Given the description of an element on the screen output the (x, y) to click on. 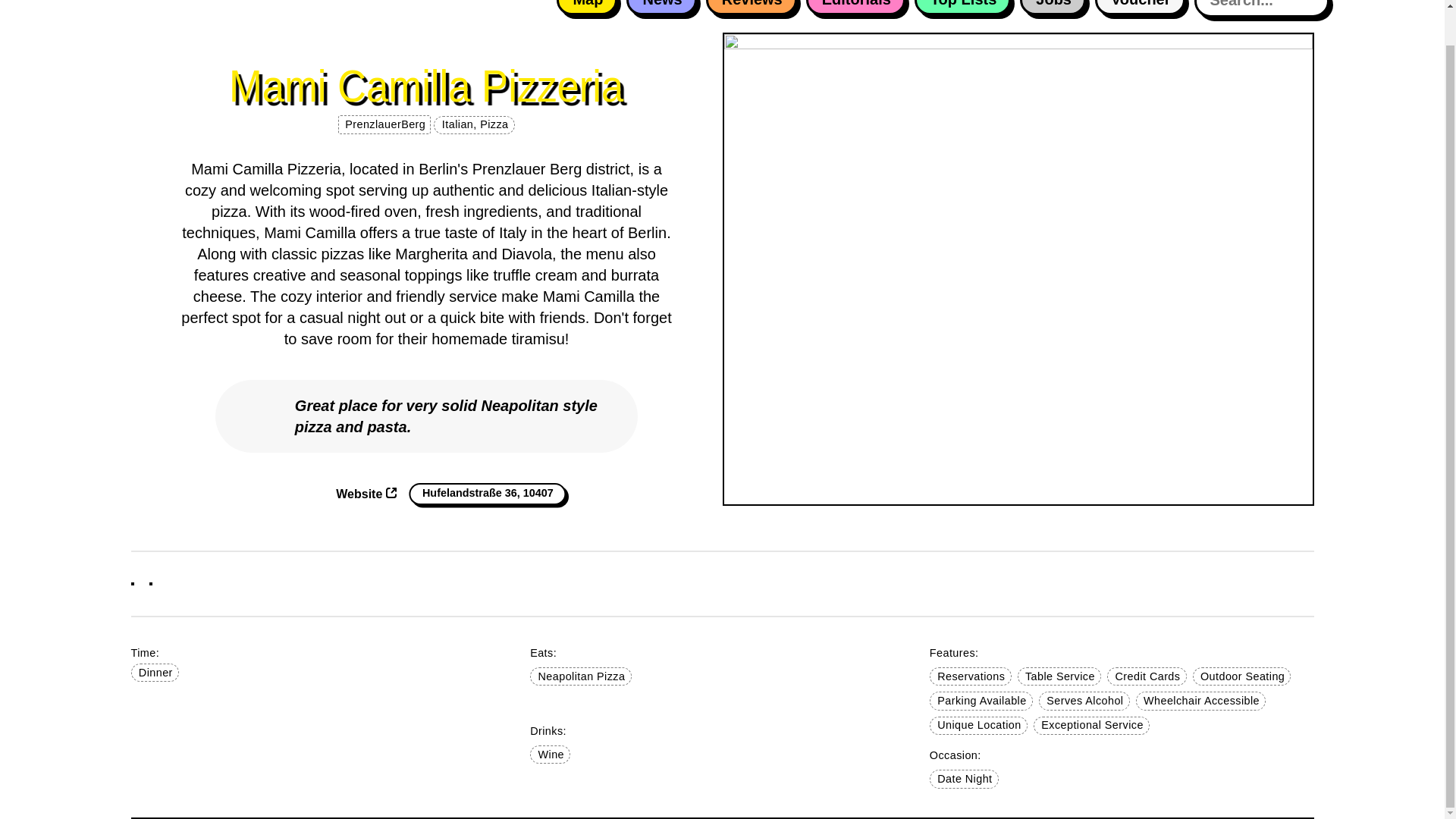
News (660, 7)
Top Lists (962, 7)
Editorials (855, 7)
Map (586, 7)
Voucher (1139, 7)
Jobs (1053, 7)
Reviews (751, 7)
Website (366, 493)
